Given the description of an element on the screen output the (x, y) to click on. 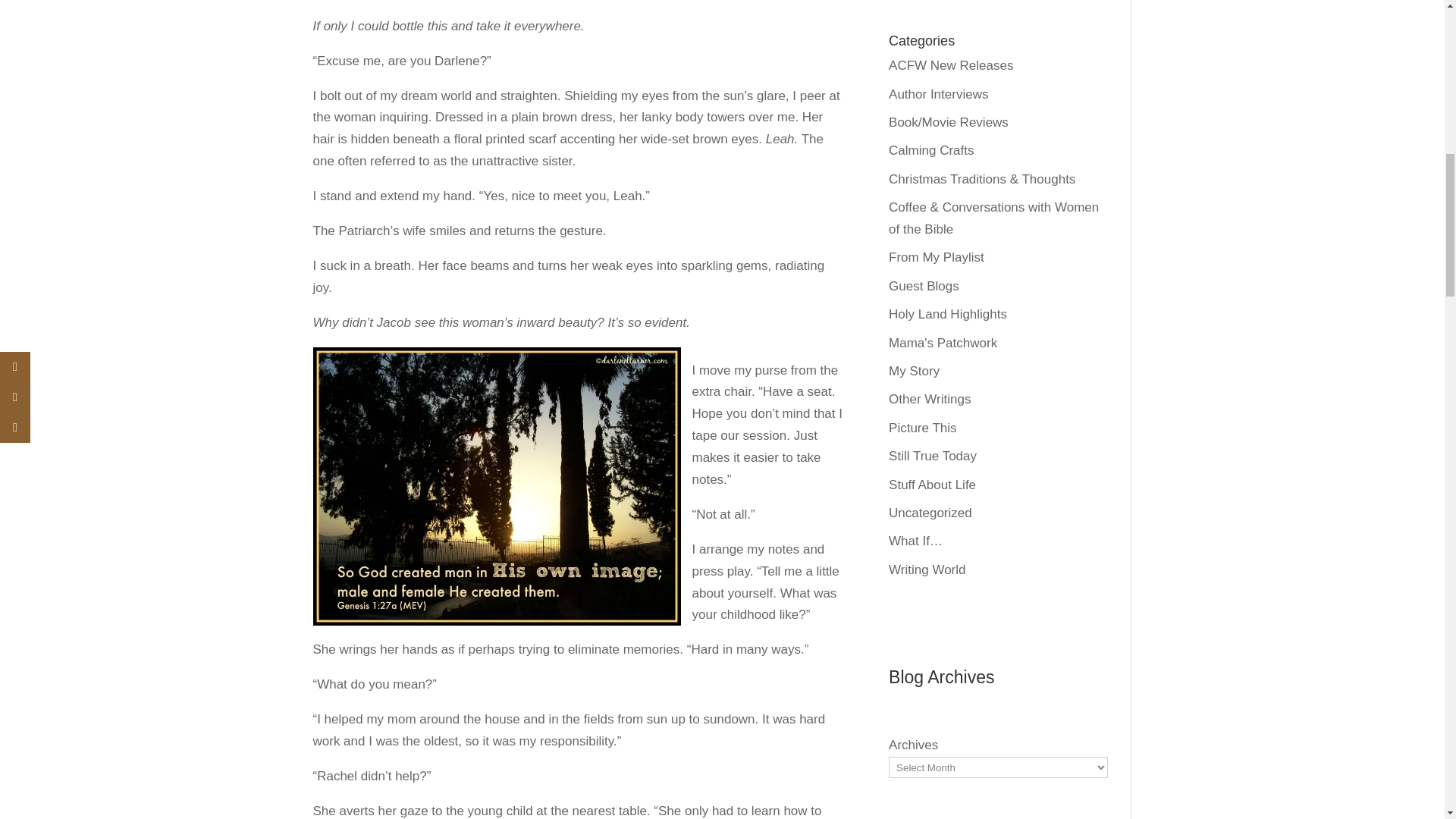
Calming Crafts (931, 150)
Author Interviews (938, 93)
ACFW New Releases (950, 65)
